Given the description of an element on the screen output the (x, y) to click on. 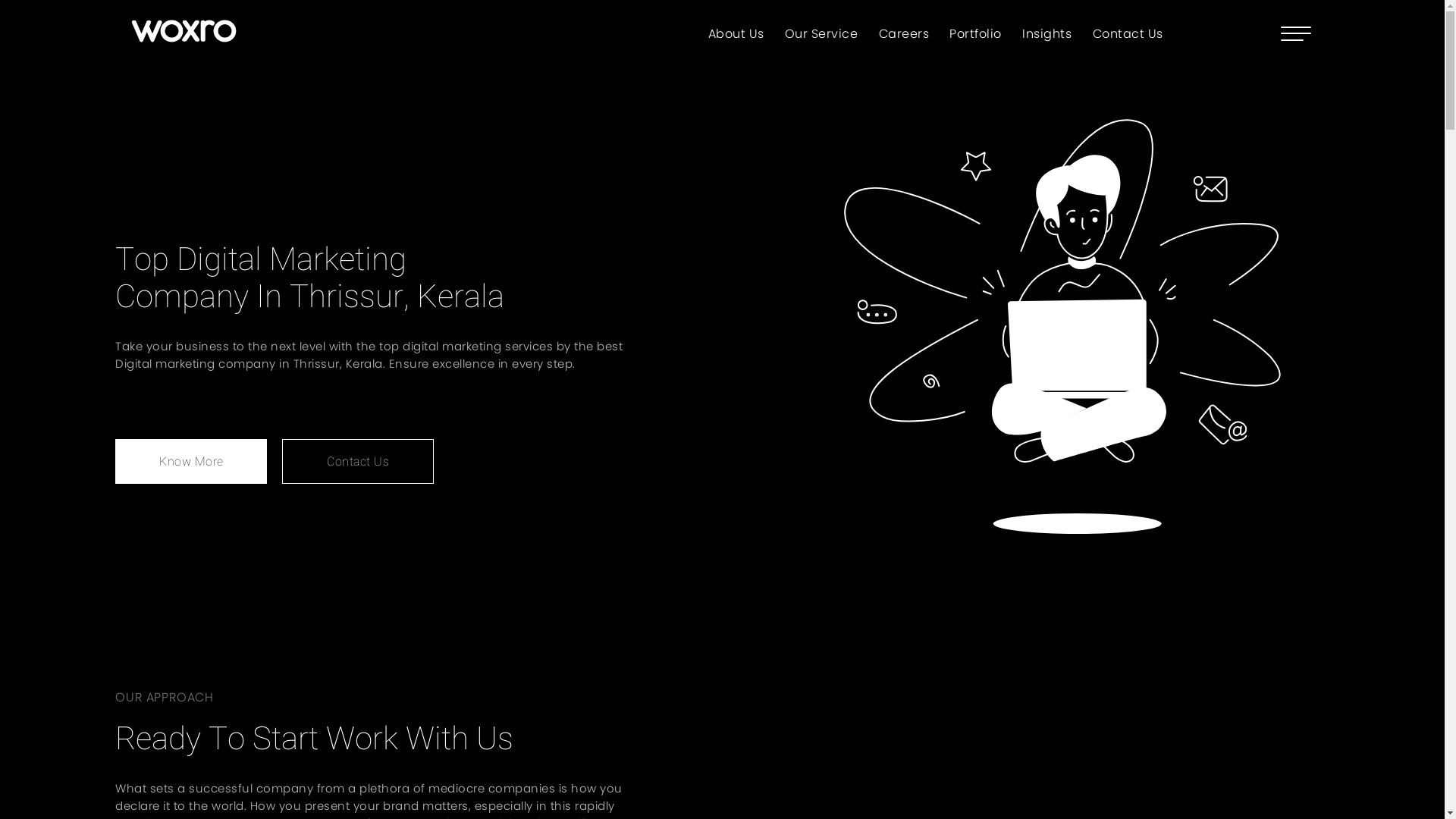
About Us Element type: text (736, 32)
Contact Us Element type: text (357, 461)
Portfolio Element type: text (975, 32)
Contact Us Element type: text (1127, 32)
Insights Element type: text (1046, 32)
Know More Element type: text (190, 461)
Careers Element type: text (903, 32)
Our Service Element type: text (821, 32)
